Given the description of an element on the screen output the (x, y) to click on. 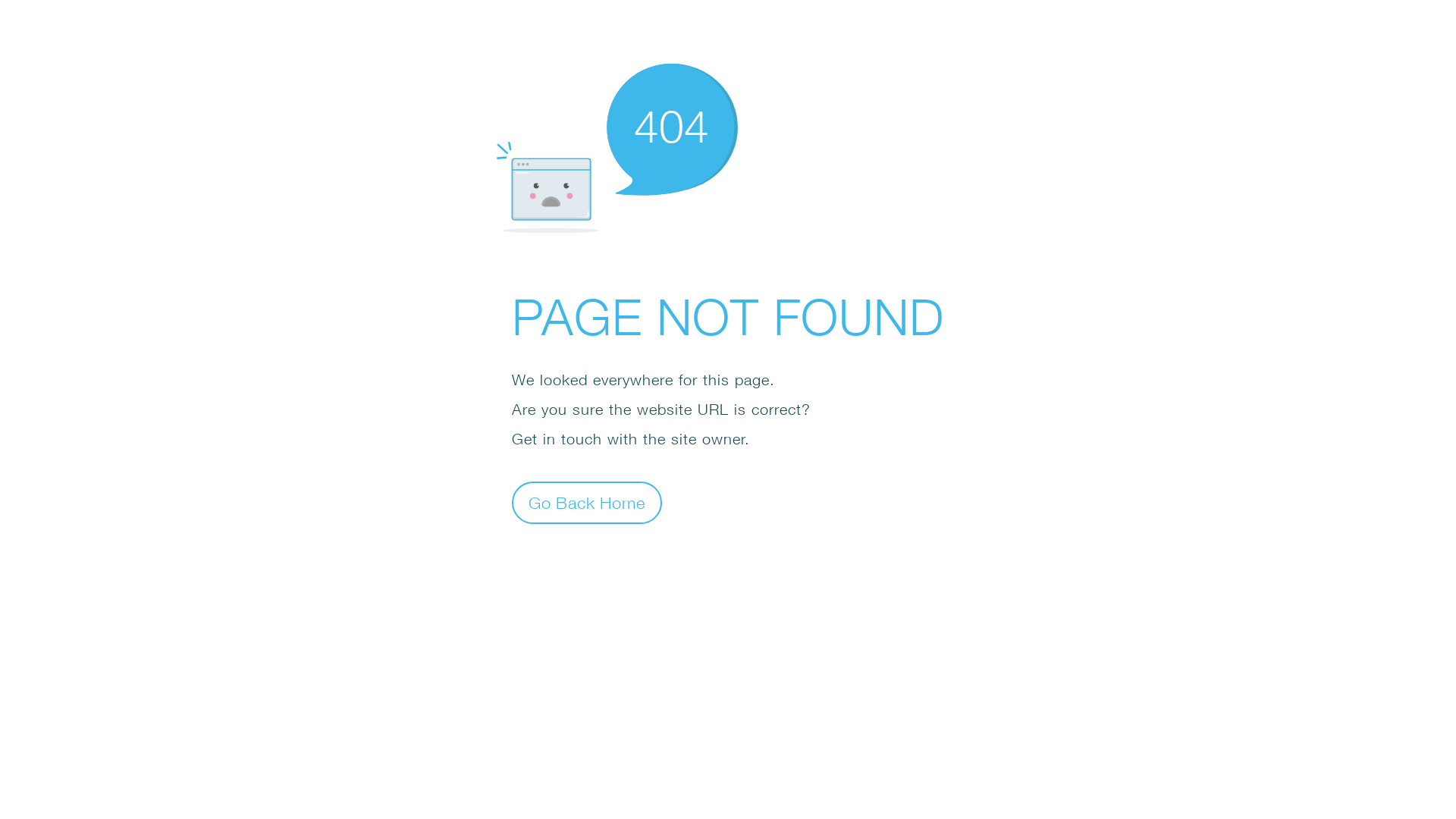
Go Back Home Element type: text (586, 502)
